Given the description of an element on the screen output the (x, y) to click on. 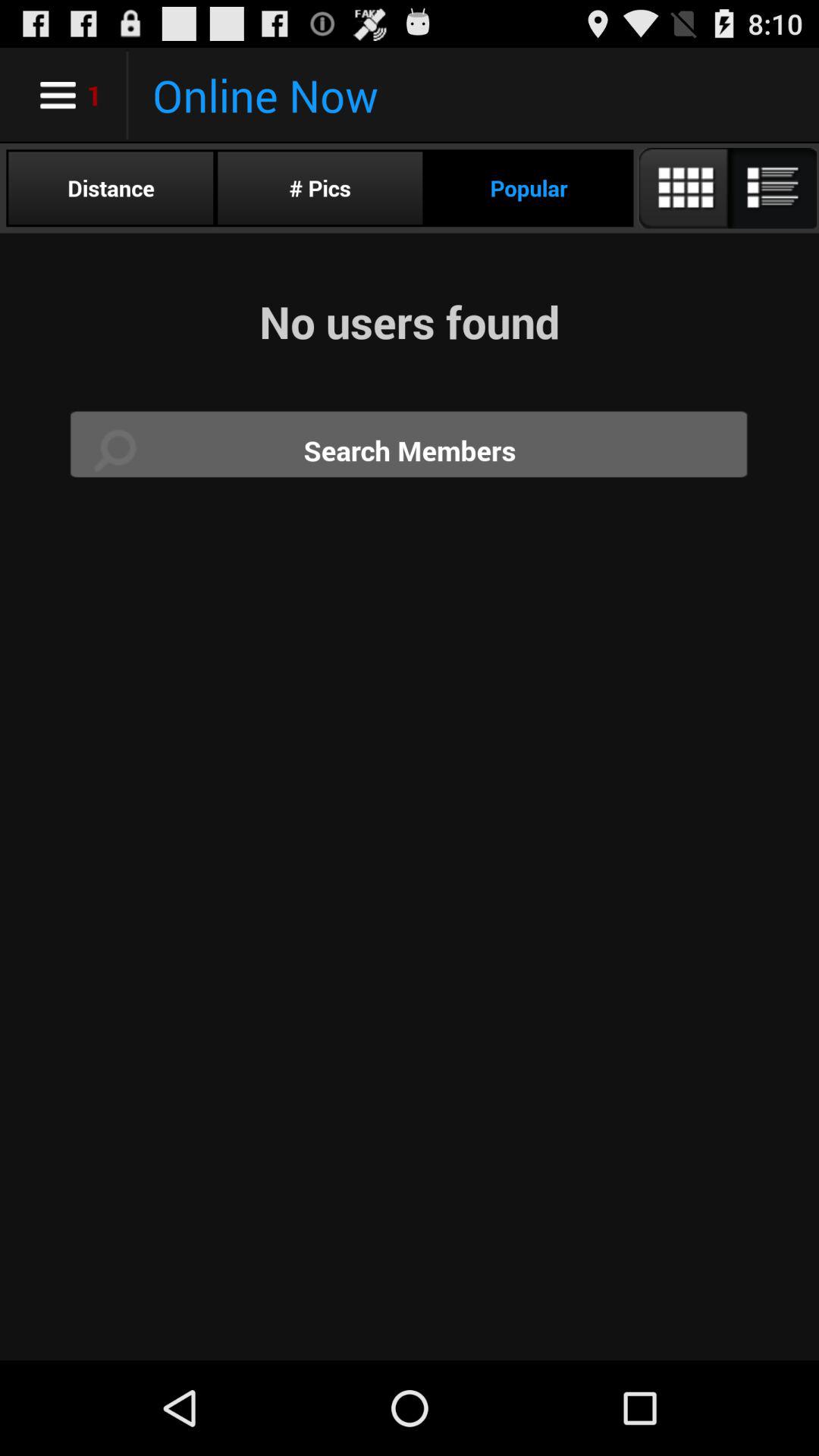
select the # pics (319, 187)
